Given the description of an element on the screen output the (x, y) to click on. 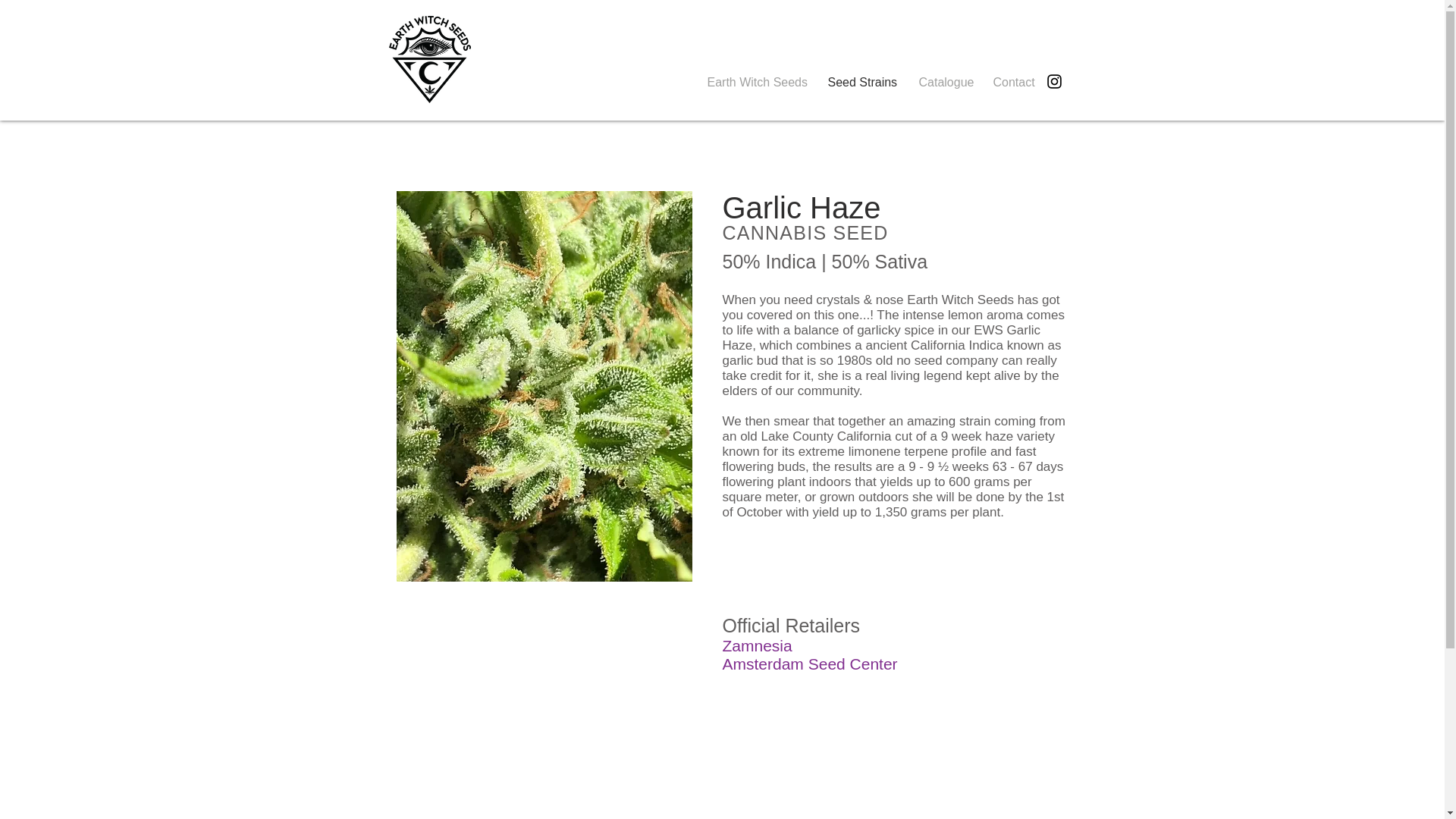
Zamnesia (757, 645)
Earth Witch Seeds (755, 82)
Contact (1012, 82)
Catalogue (944, 82)
Amsterdam Seed Center (809, 663)
Seed Strains (861, 82)
